Given the description of an element on the screen output the (x, y) to click on. 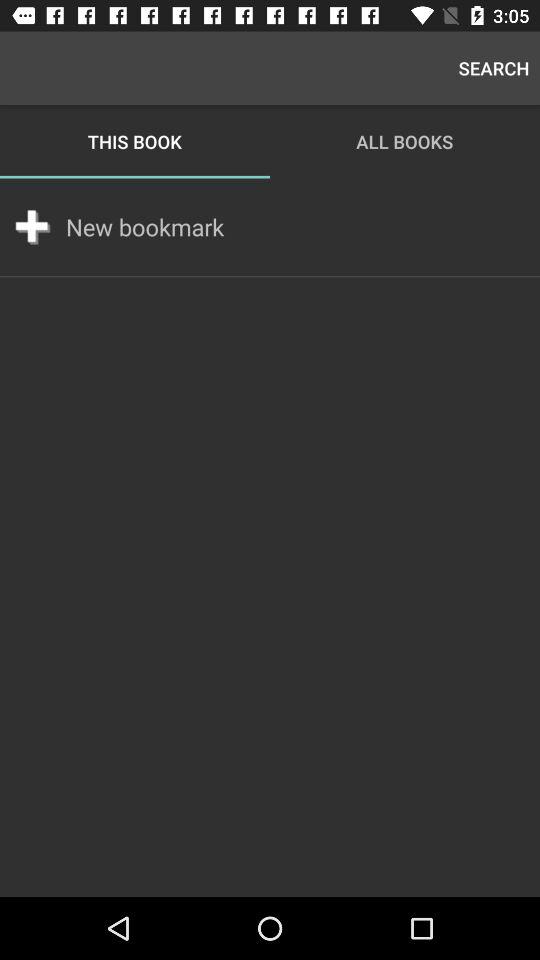
press search (494, 67)
